Given the description of an element on the screen output the (x, y) to click on. 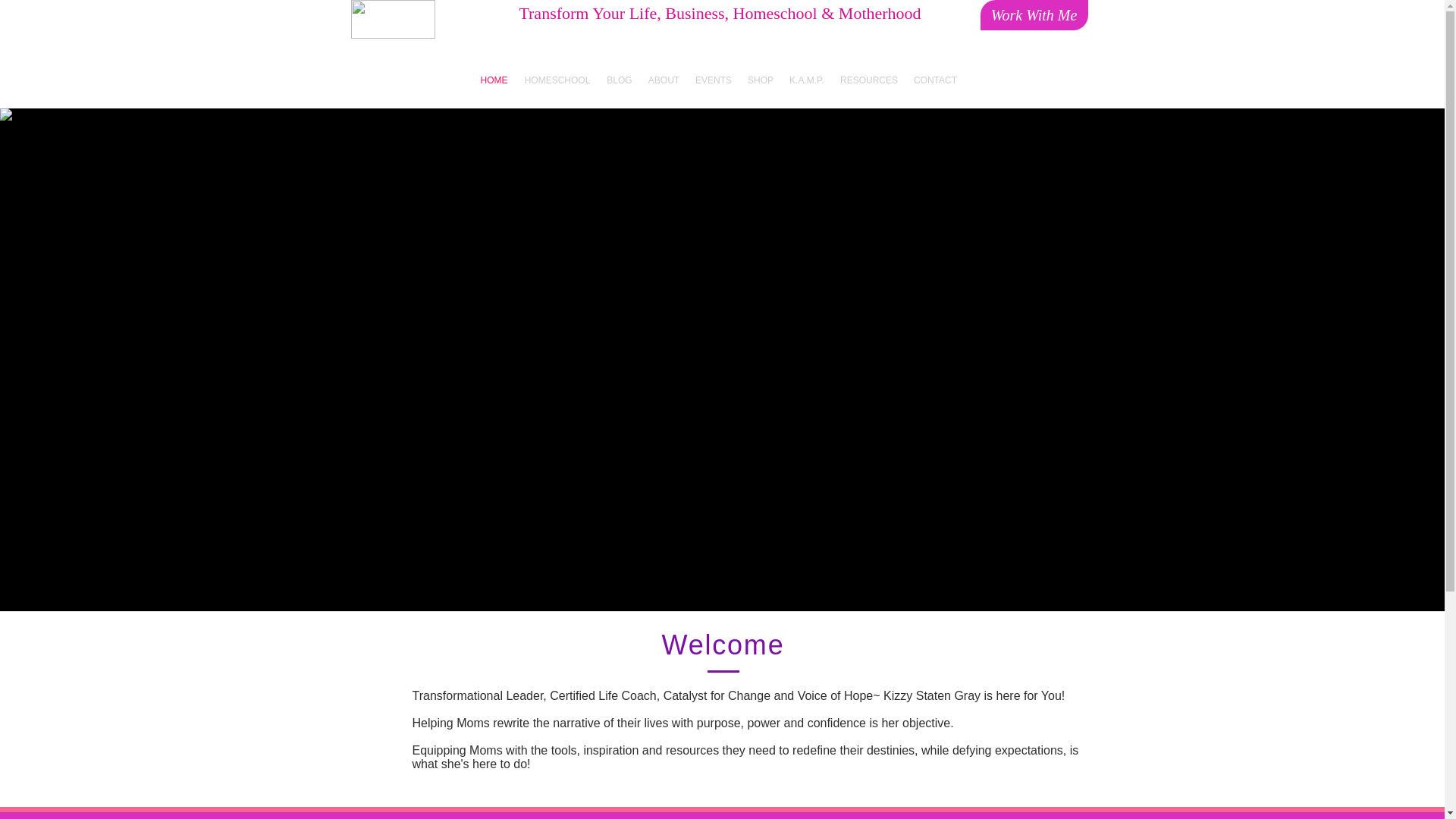
HOMESCHOOL (556, 80)
EVENTS (713, 80)
RESOURCES (868, 80)
ABOUT (663, 80)
BLOG (619, 80)
Work With Me (1033, 15)
SHOP (760, 80)
HOME (493, 80)
K.A.M.P. (805, 80)
CONTACT (934, 80)
